Given the description of an element on the screen output the (x, y) to click on. 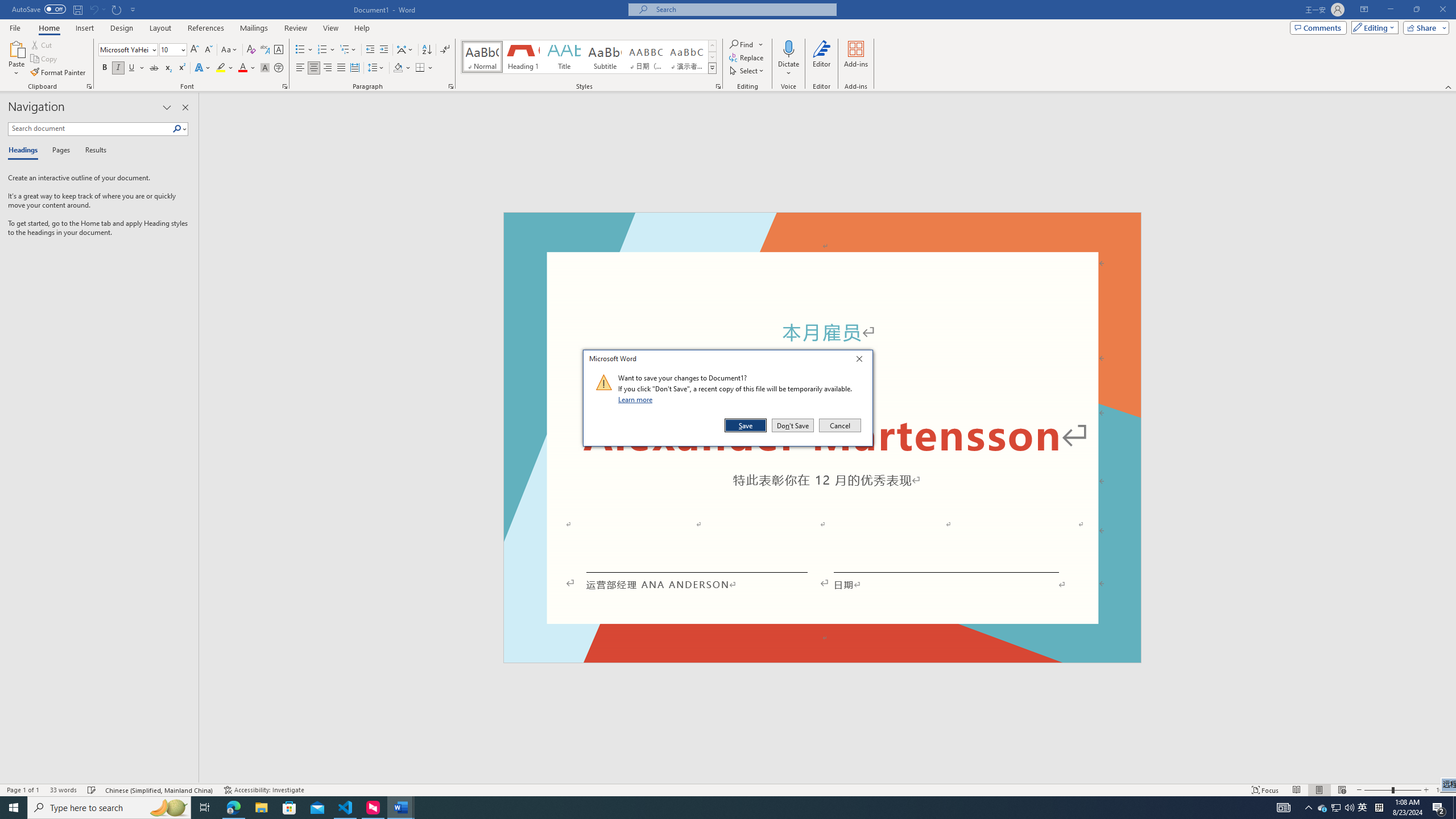
Enclose Characters... (278, 67)
Q2790: 100% (1349, 807)
Italic (118, 67)
Bold (104, 67)
Text Effects and Typography (202, 67)
Type here to search (108, 807)
Spelling and Grammar Check Checking (91, 790)
Microsoft Store (289, 807)
